Given the description of an element on the screen output the (x, y) to click on. 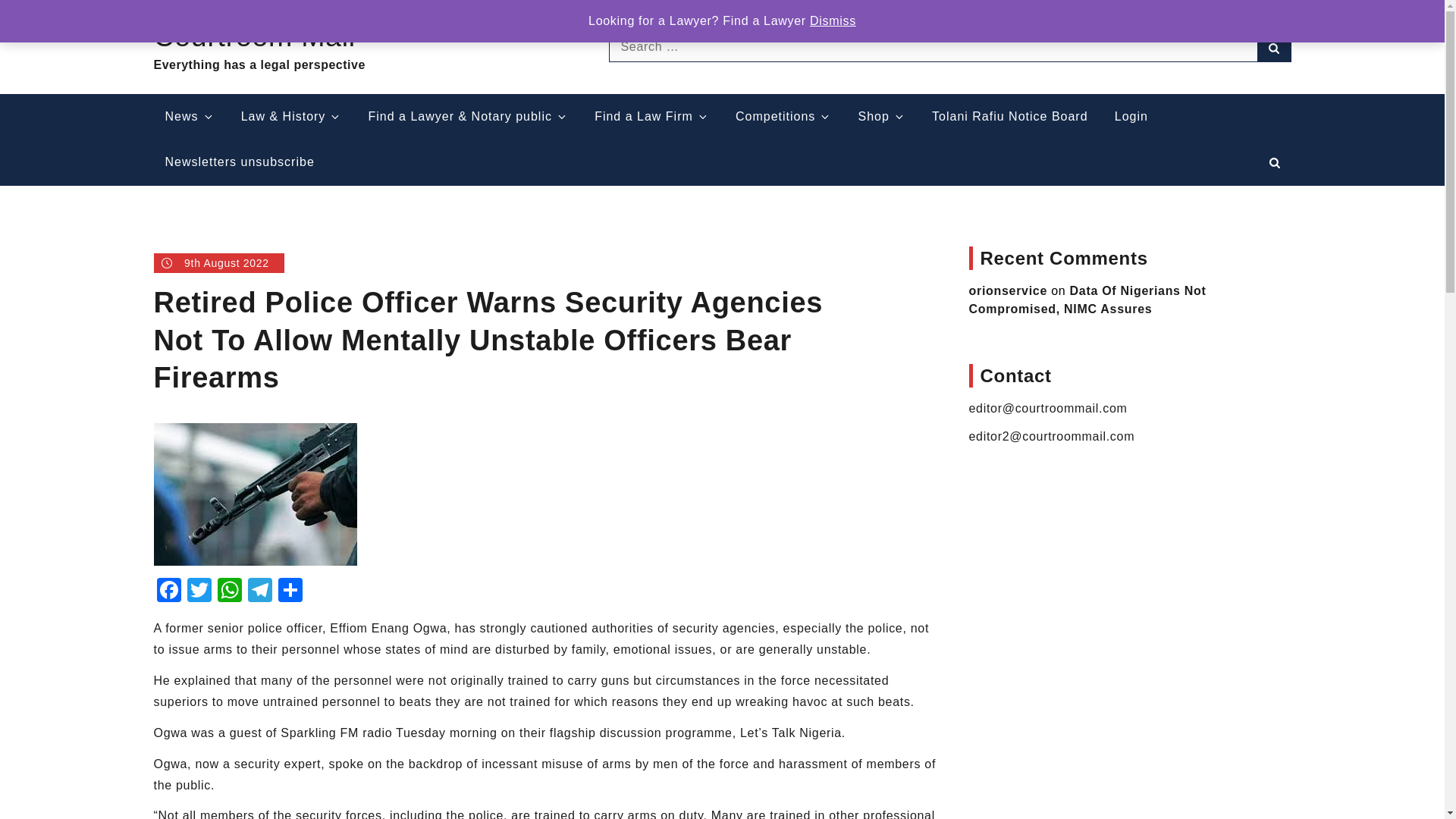
Courtroom Mail (253, 36)
Newsletters unsubscribe (238, 162)
Share (289, 592)
Facebook (167, 592)
Twitter (198, 592)
9th August 2022 (217, 262)
Find a Law Firm (651, 117)
Telegram (259, 592)
Twitter (198, 592)
Facebook (167, 592)
WhatsApp (229, 592)
Search (1274, 46)
News (188, 117)
Shop (882, 117)
WhatsApp (229, 592)
